Given the description of an element on the screen output the (x, y) to click on. 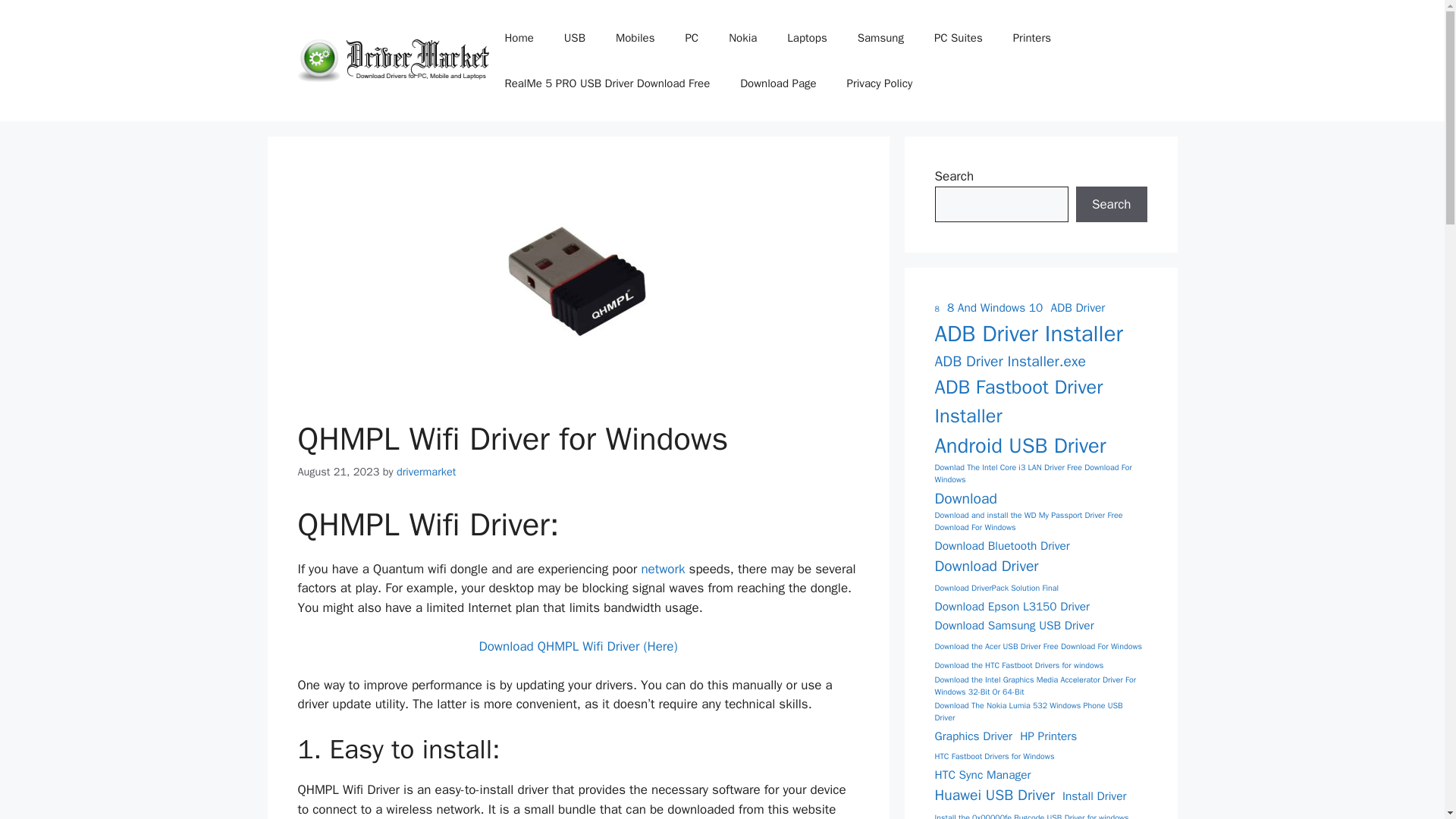
Download Page (778, 83)
RealMe 5 PRO USB Driver Download Free (607, 83)
View all posts by drivermarket (425, 471)
Home (518, 37)
ADB Driver Installer (1028, 333)
drivermarket (425, 471)
USB (573, 37)
Privacy Policy (879, 83)
Mobiles (634, 37)
Download (964, 498)
network (662, 569)
Laptops (806, 37)
Samsung (880, 37)
Android USB Driver (1019, 445)
